Given the description of an element on the screen output the (x, y) to click on. 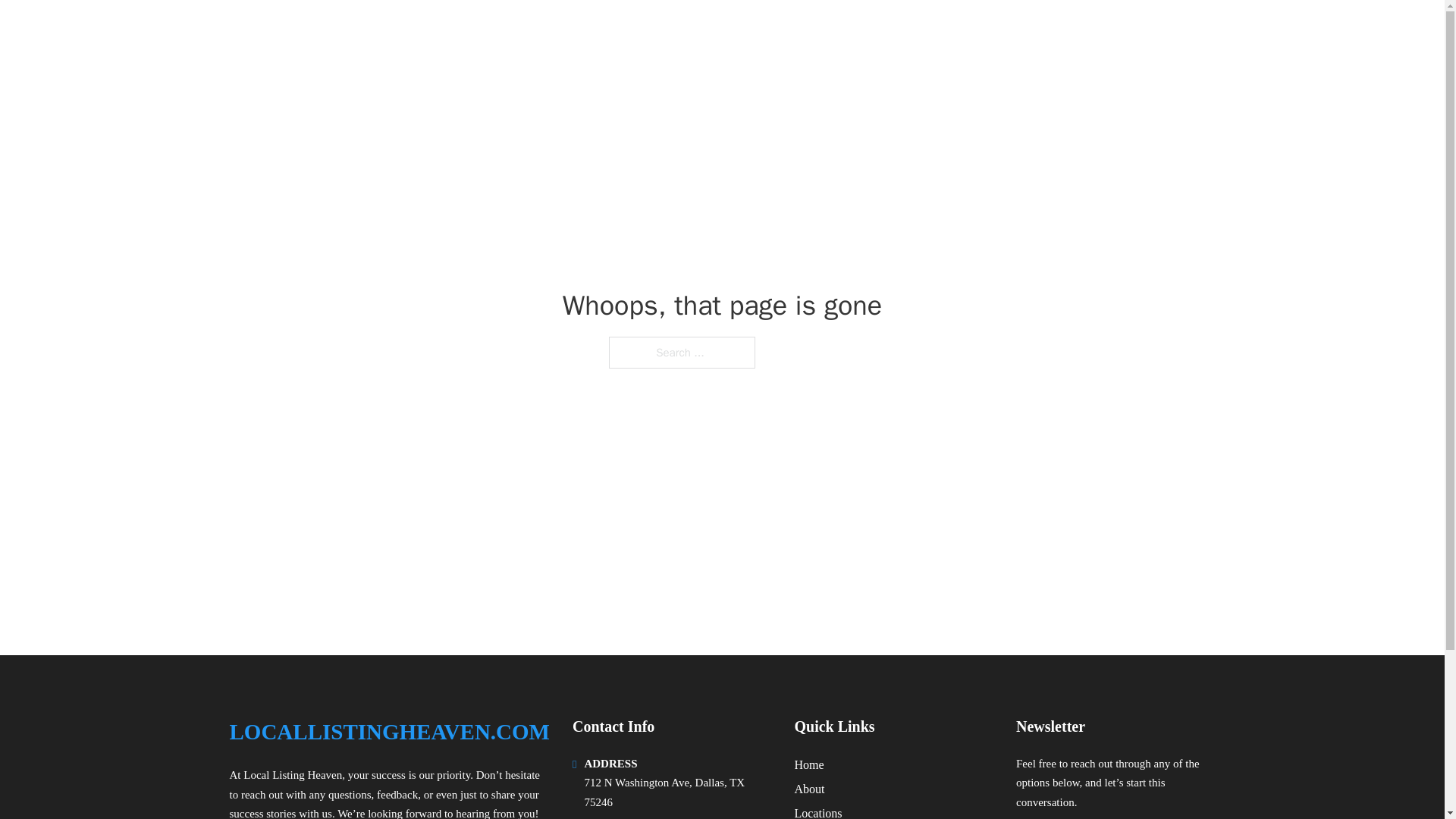
LOCALLISTINGHEAVEN.COM (405, 31)
About (808, 788)
HOME (1025, 31)
Home (808, 764)
Locations (817, 811)
LOCALLISTINGHEAVEN.COM (388, 732)
LOCATIONS (1098, 31)
